Given the description of an element on the screen output the (x, y) to click on. 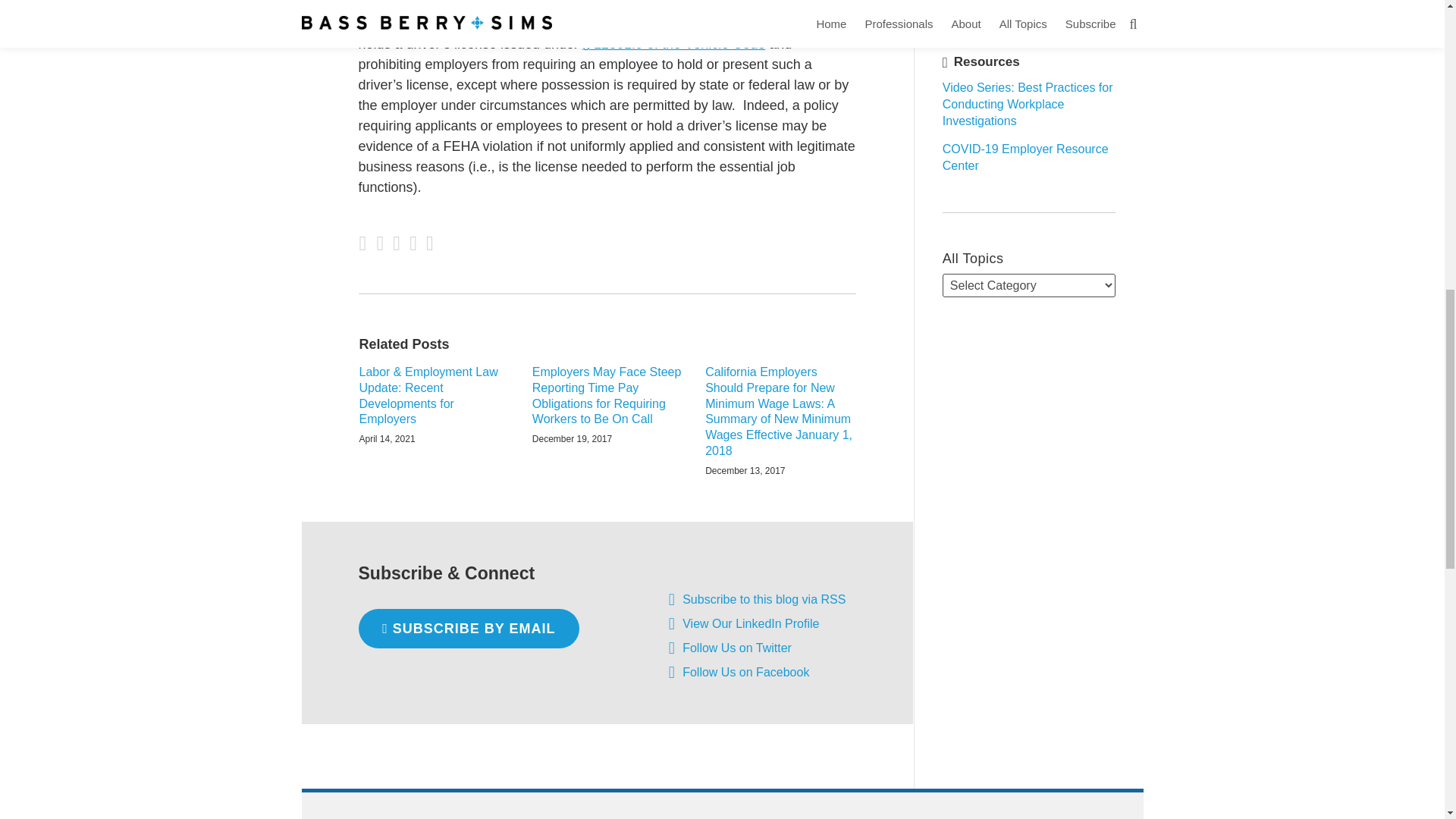
View Our LinkedIn Profile (750, 623)
Subscribe to this blog via RSS (763, 599)
SUBSCRIBE BY EMAIL (468, 628)
Follow Us on Facebook (745, 672)
Follow Us on Twitter (737, 647)
